Given the description of an element on the screen output the (x, y) to click on. 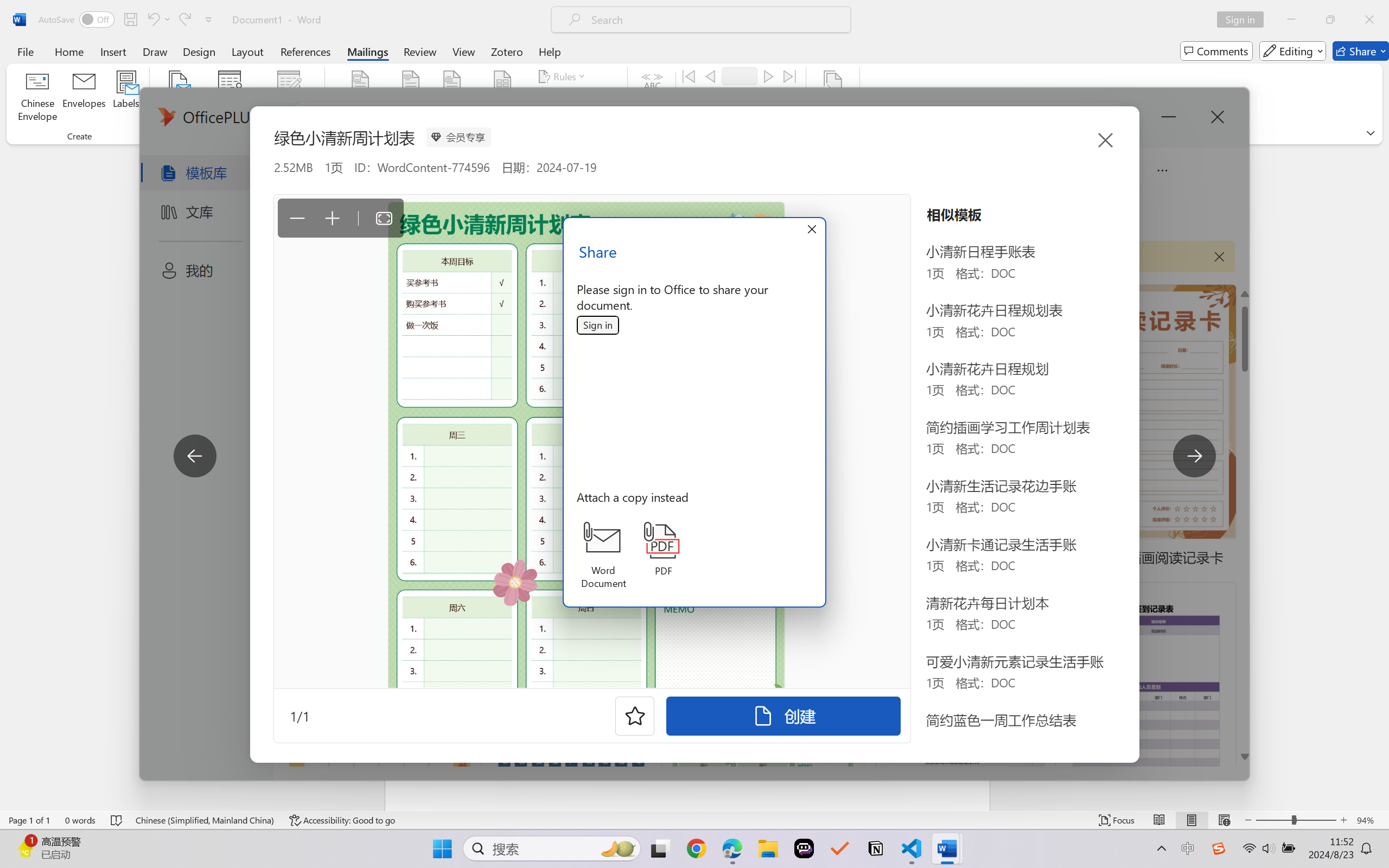
Undo Apply Quick Style Set (158, 19)
PDF (663, 549)
Update Labels (576, 118)
